Given the description of an element on the screen output the (x, y) to click on. 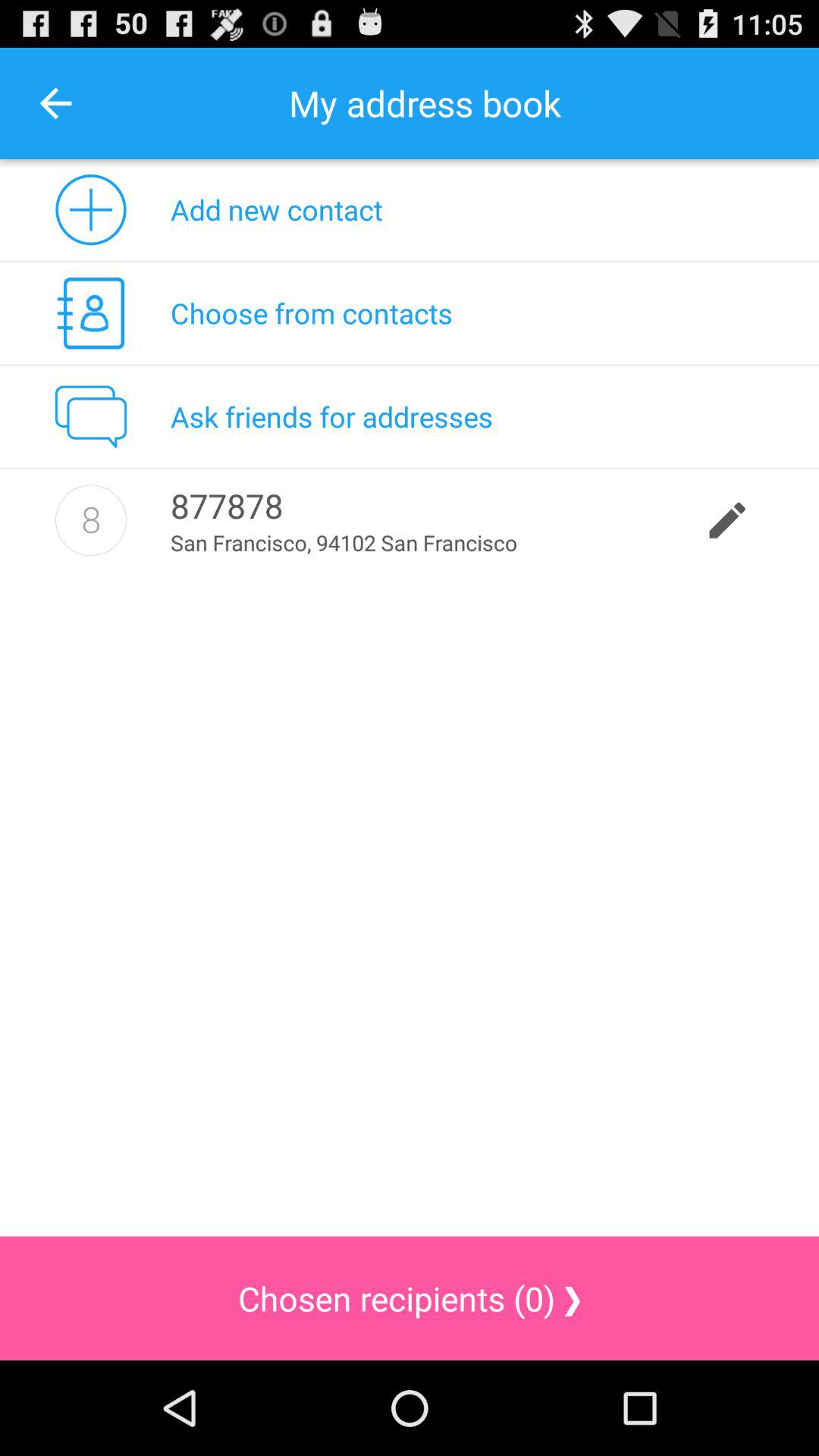
go to previous page (55, 103)
